Given the description of an element on the screen output the (x, y) to click on. 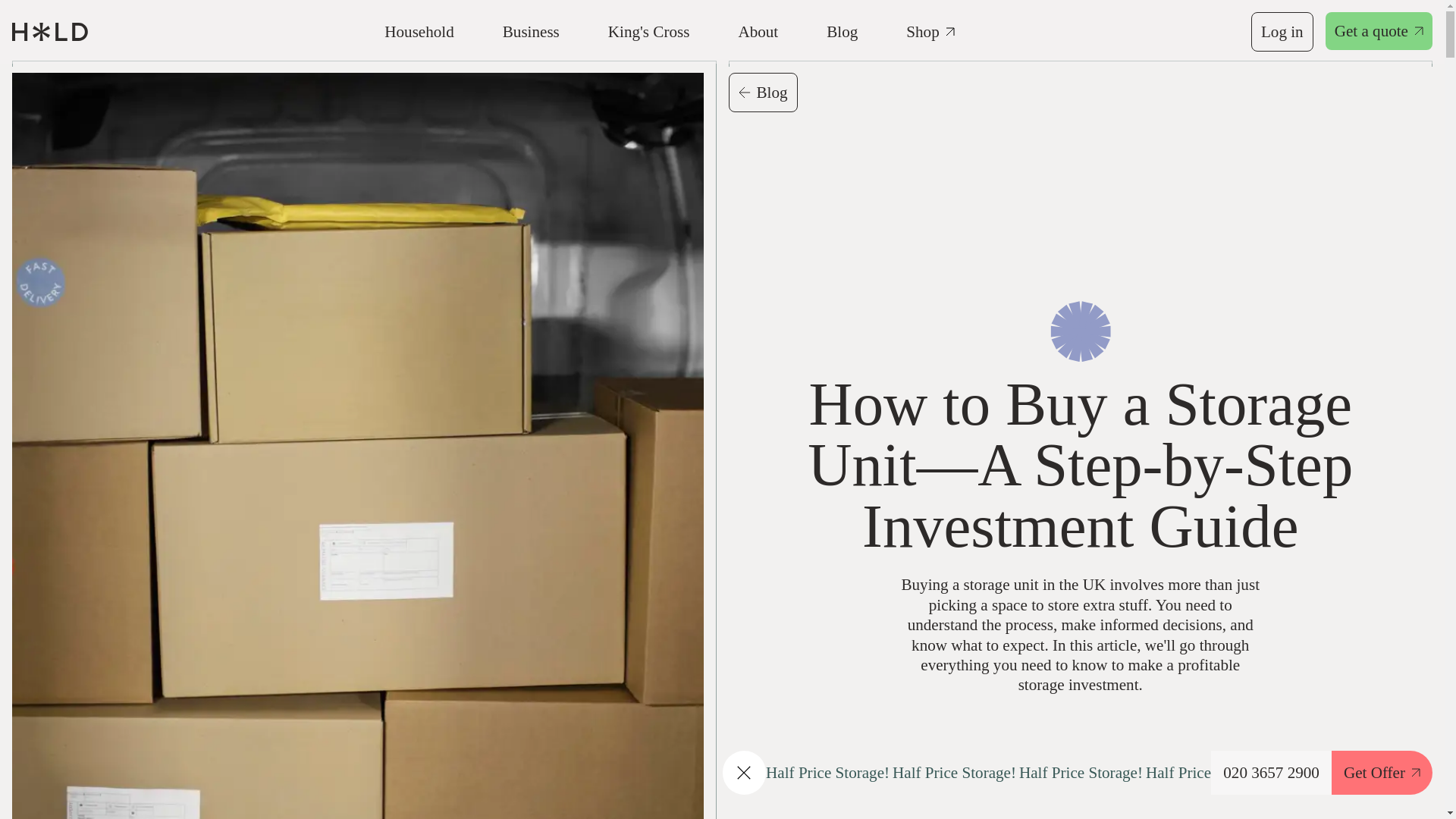
Get a quote (1378, 30)
Log in (1281, 31)
020 3657 2900 (1271, 772)
Blog (762, 92)
Get a quote (1378, 31)
Household (418, 32)
King's Cross (649, 32)
Shop (929, 31)
Blog (842, 32)
About (757, 32)
